Given the description of an element on the screen output the (x, y) to click on. 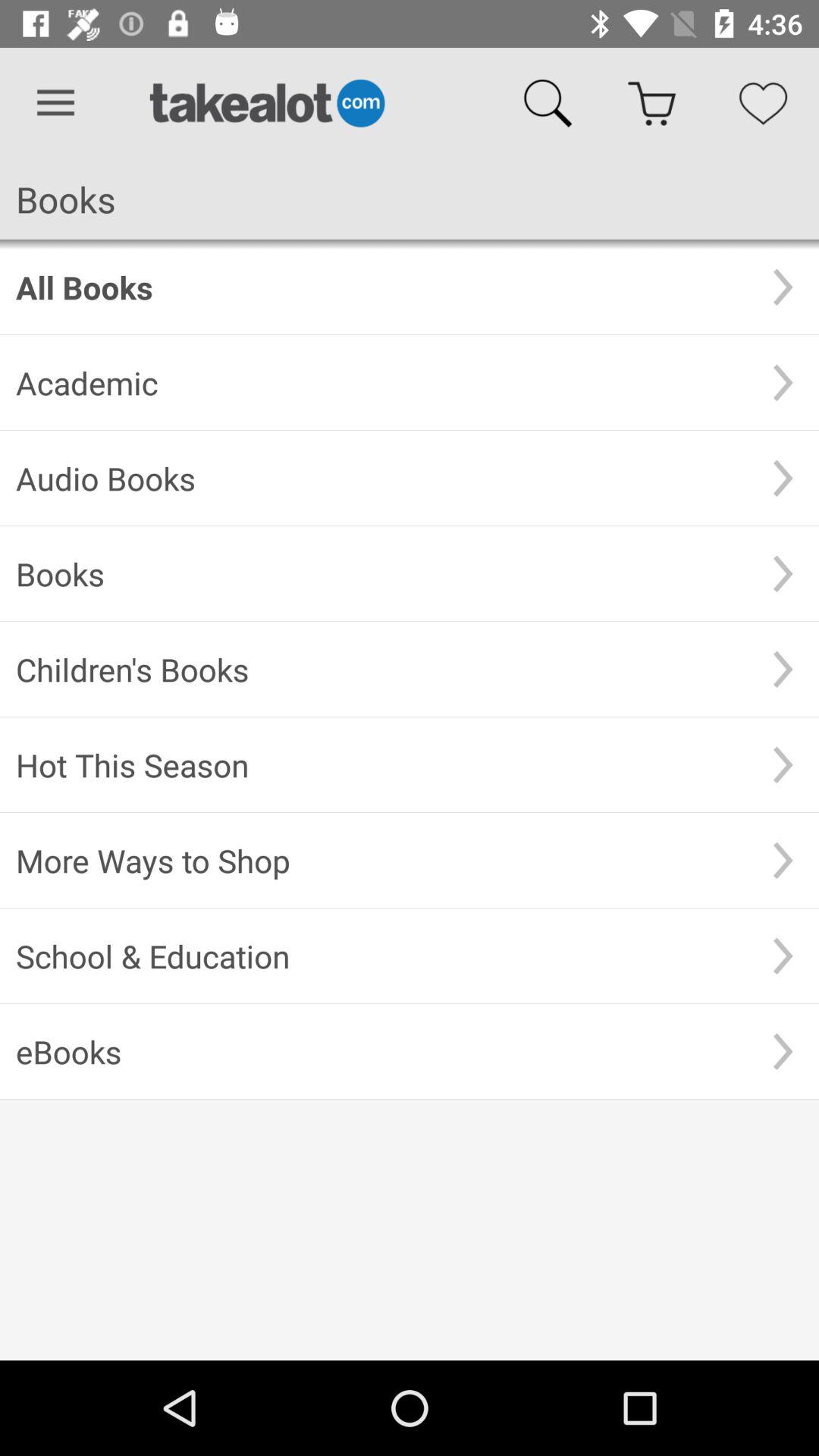
turn on the academic item (381, 382)
